Given the description of an element on the screen output the (x, y) to click on. 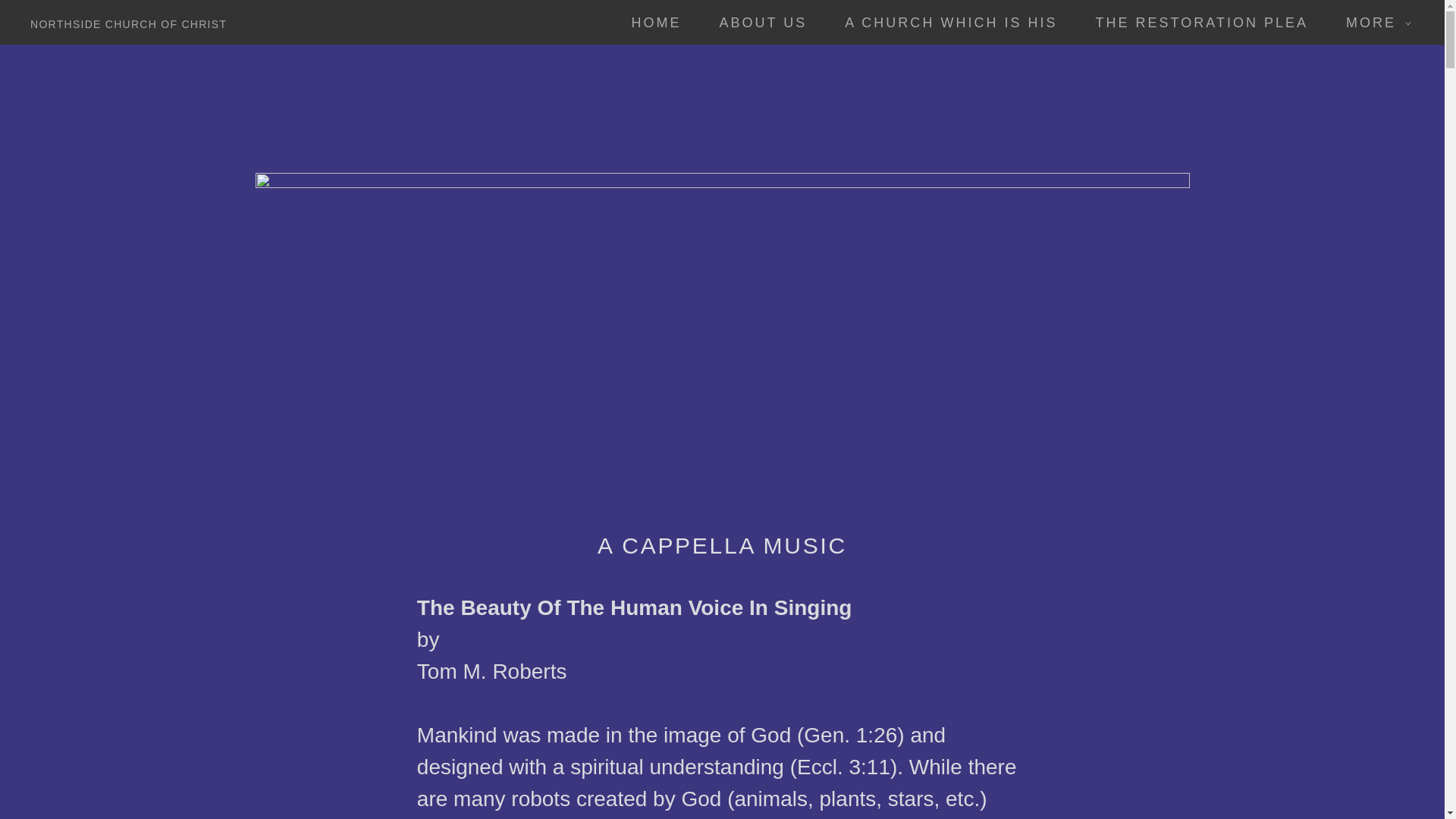
HOME (648, 22)
ABOUT US (756, 22)
MORE (1372, 22)
A CHURCH WHICH IS HIS (944, 22)
THE RESTORATION PLEA (1195, 22)
NORTHSIDE CHURCH OF CHRIST (128, 21)
Northside church of Christ (128, 21)
